Given the description of an element on the screen output the (x, y) to click on. 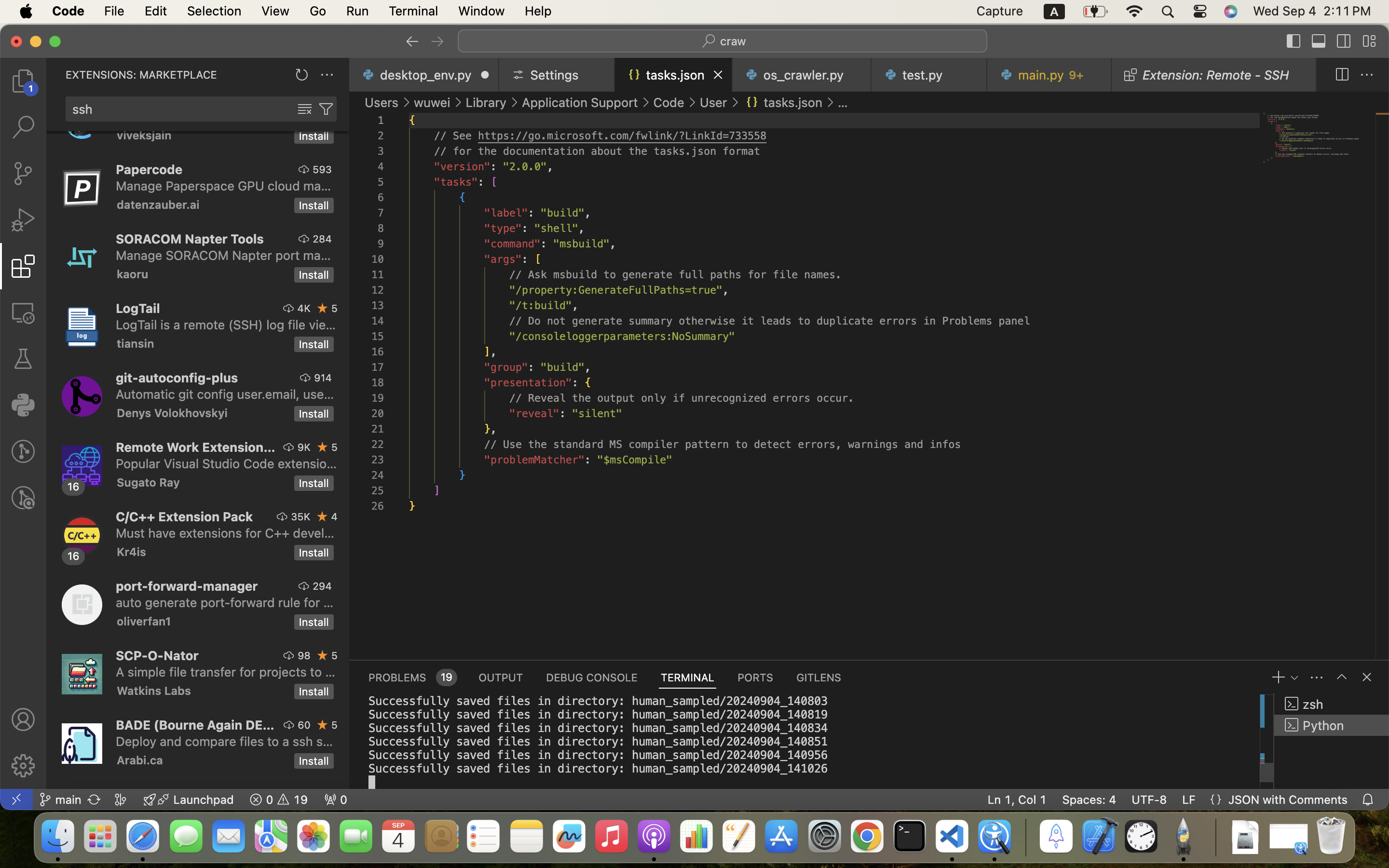
EXTENSIONS: MARKETPLACE Element type: AXStaticText (141, 74)
60 Element type: AXStaticText (304, 724)
git-autoconfig-plus Element type: AXStaticText (176, 377)
284 Element type: AXStaticText (321, 238)
Denys Volokhovskyi Element type: AXStaticText (171, 412)
